Given the description of an element on the screen output the (x, y) to click on. 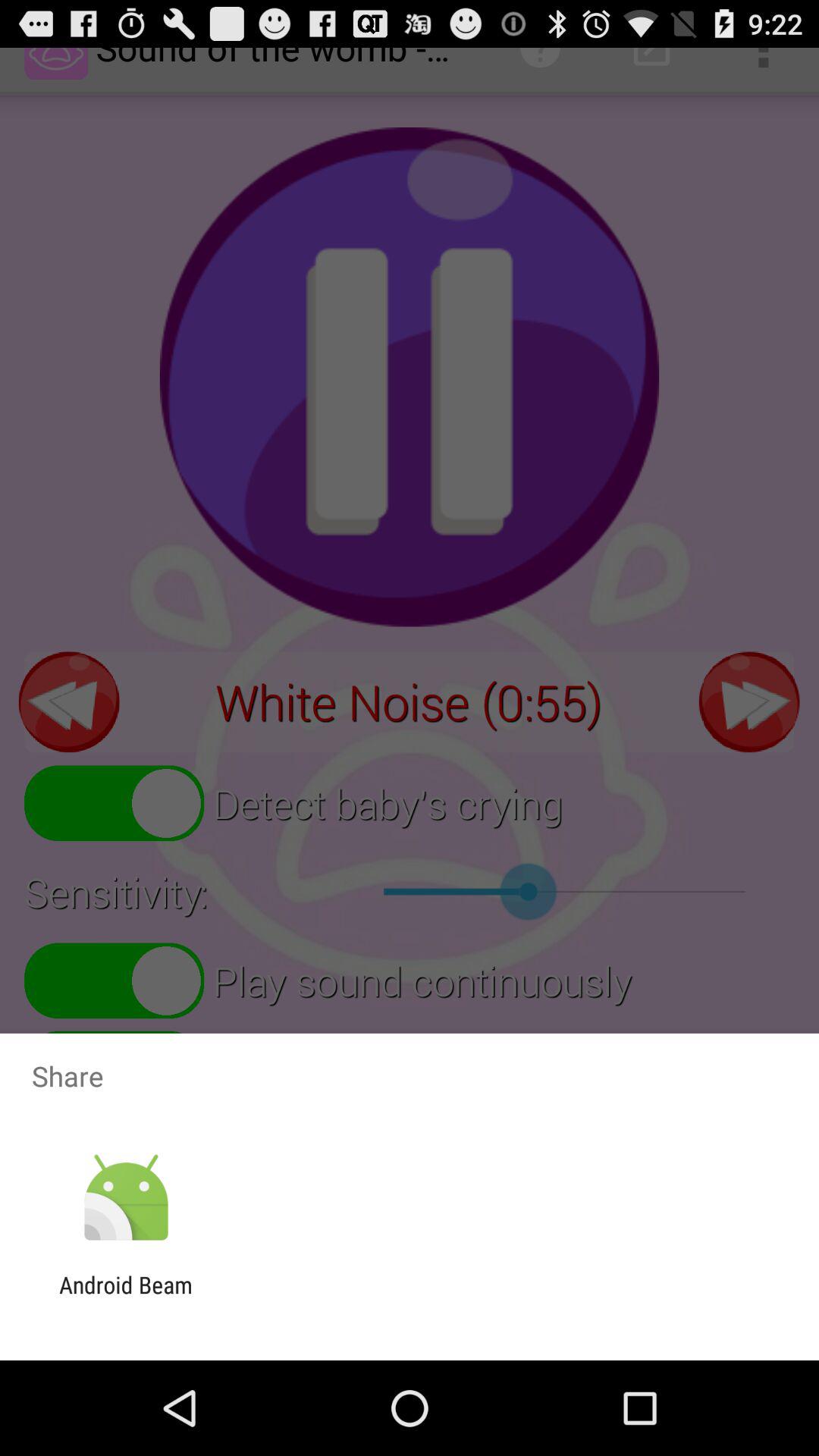
jump to the android beam (125, 1298)
